Given the description of an element on the screen output the (x, y) to click on. 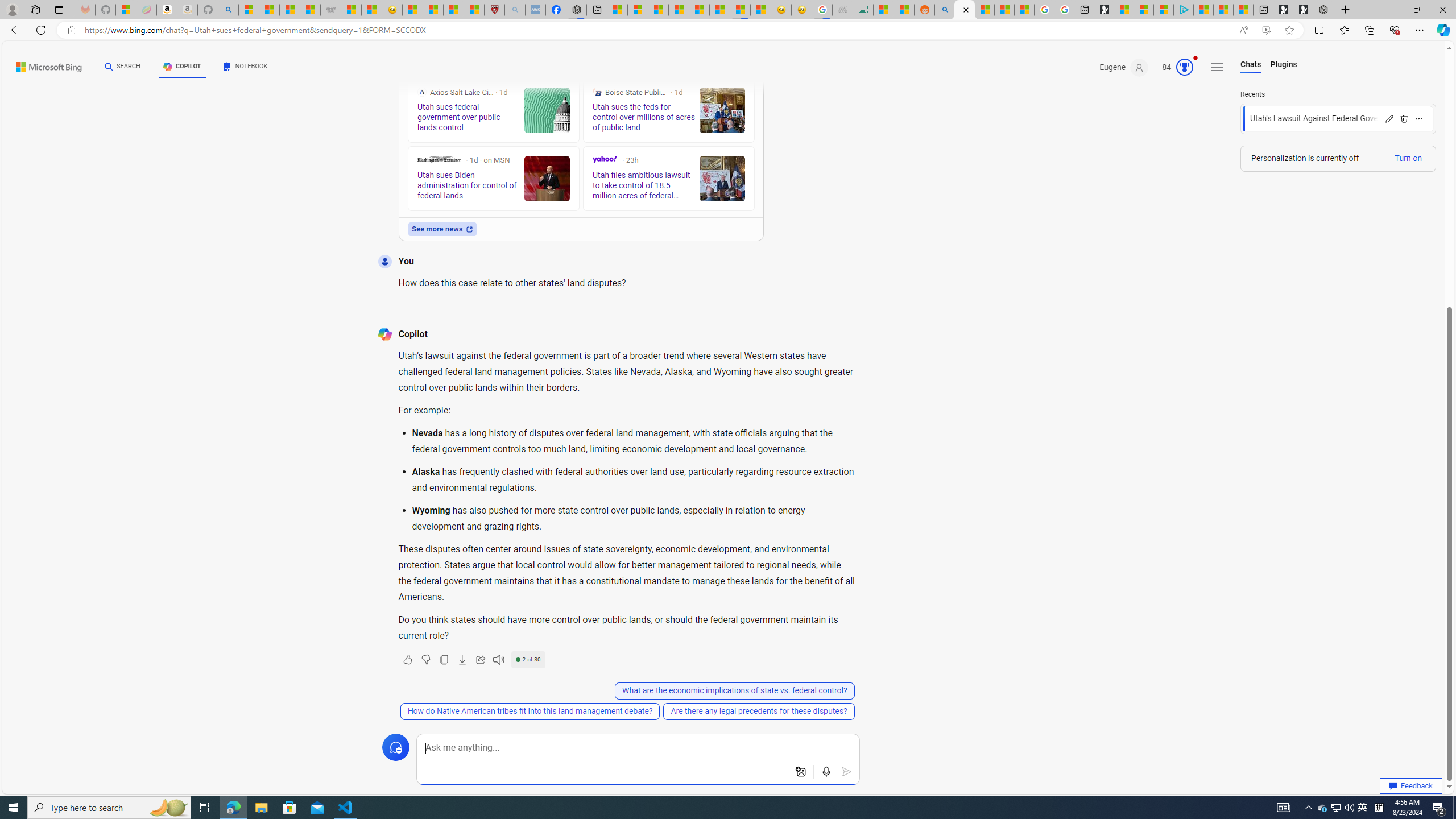
Add an image to search (800, 771)
AutomationID: rh_meter (1184, 66)
NOTEBOOK (245, 68)
COPILOT (181, 66)
